Given the description of an element on the screen output the (x, y) to click on. 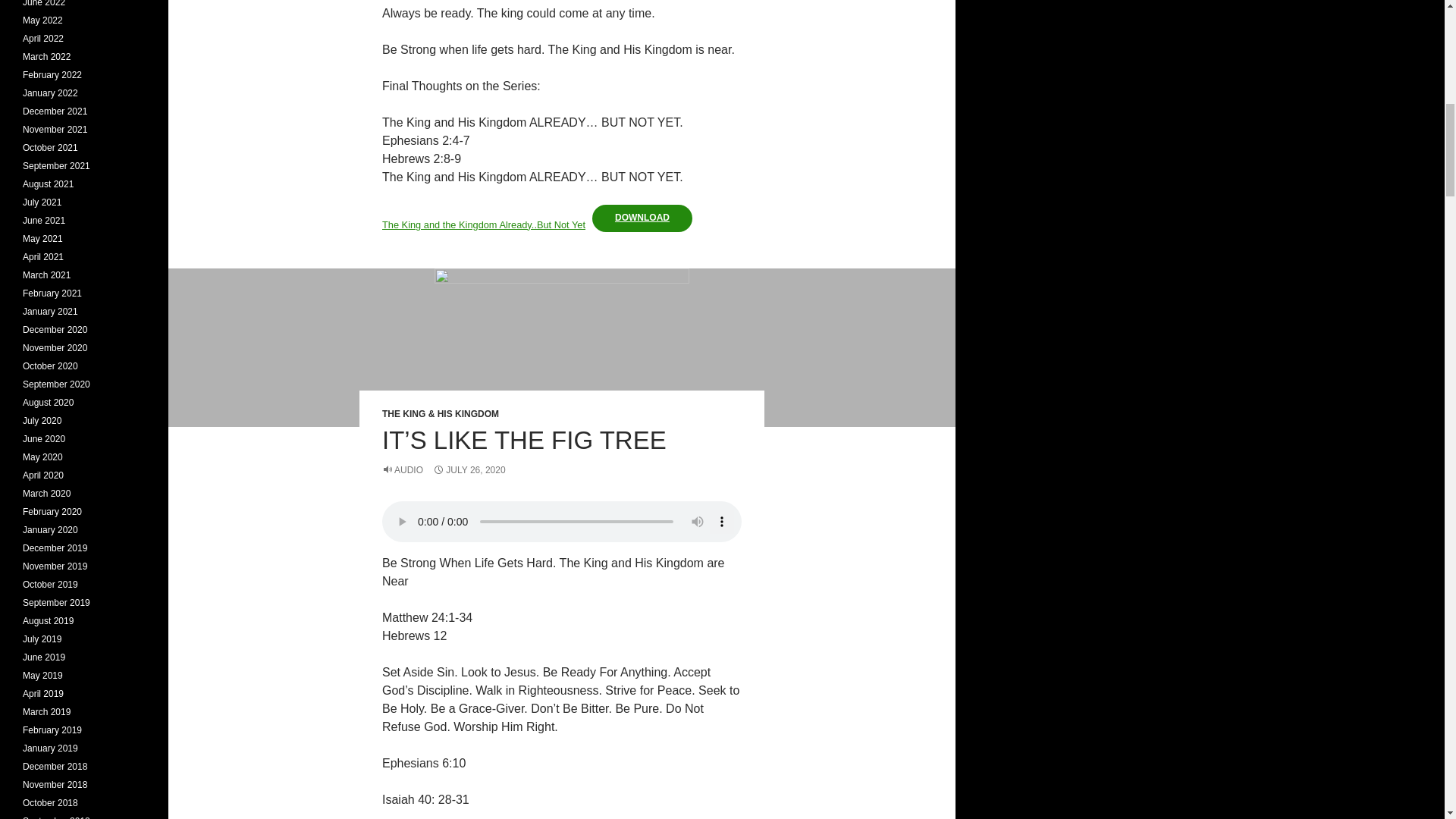
JULY 26, 2020 (468, 470)
DOWNLOAD (642, 217)
The King and the Kingdom Already..But Not Yet (483, 224)
AUDIO (402, 470)
